Given the description of an element on the screen output the (x, y) to click on. 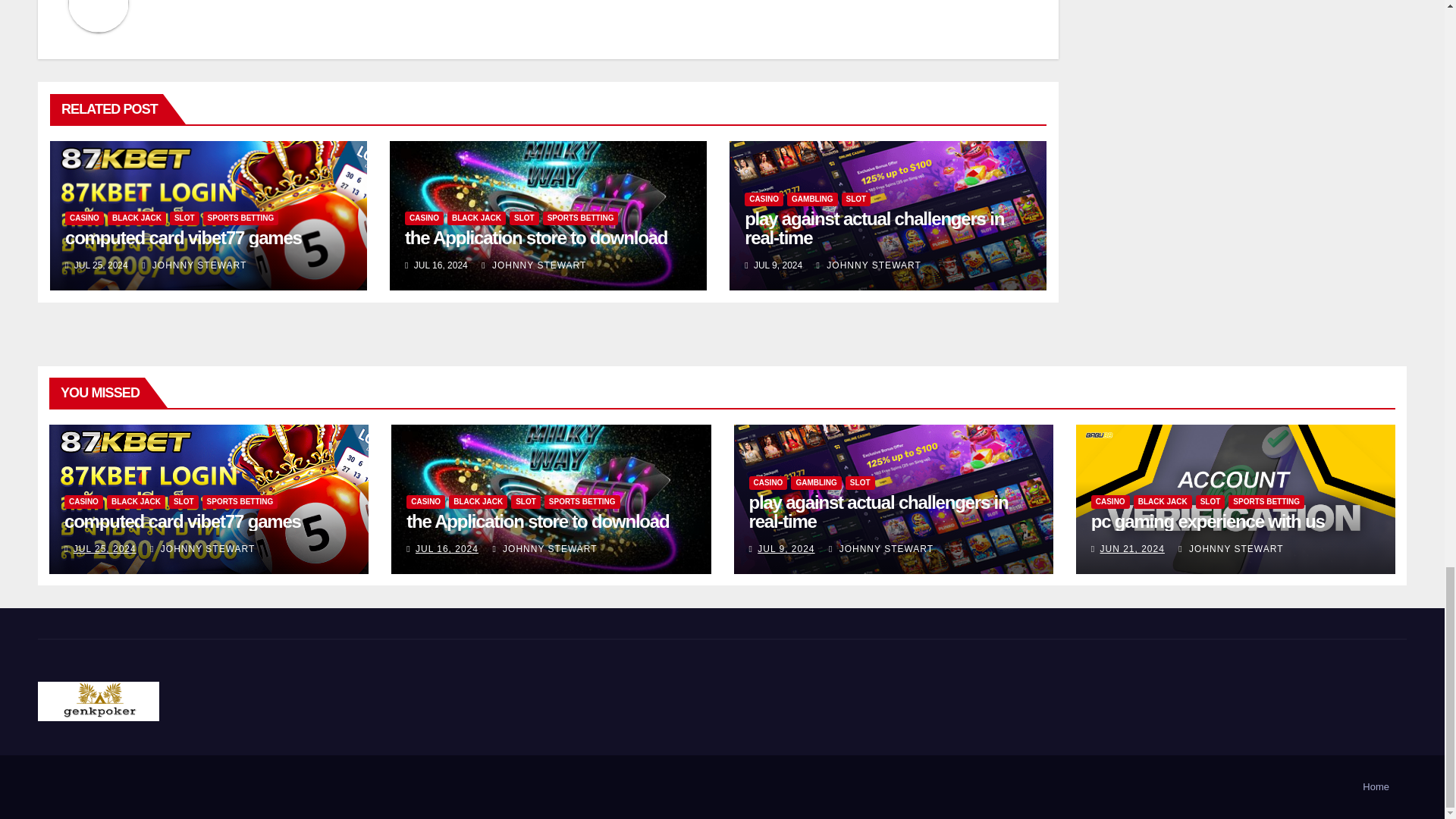
Permalink to: play against actual challengers in real-time (874, 228)
SPORTS BETTING (241, 218)
Permalink to: computed card vibet77 games (183, 237)
computed card vibet77 games (183, 237)
Permalink to: the Application store to download (535, 237)
SLOT (184, 218)
Permalink to: pc gaming experience with us (1207, 521)
Permalink to: the Application store to download (537, 521)
CASINO (84, 218)
Home (1375, 786)
Permalink to: play against actual challengers in real-time (879, 511)
Permalink to: computed card vibet77 games (182, 521)
BLACK JACK (136, 218)
